Given the description of an element on the screen output the (x, y) to click on. 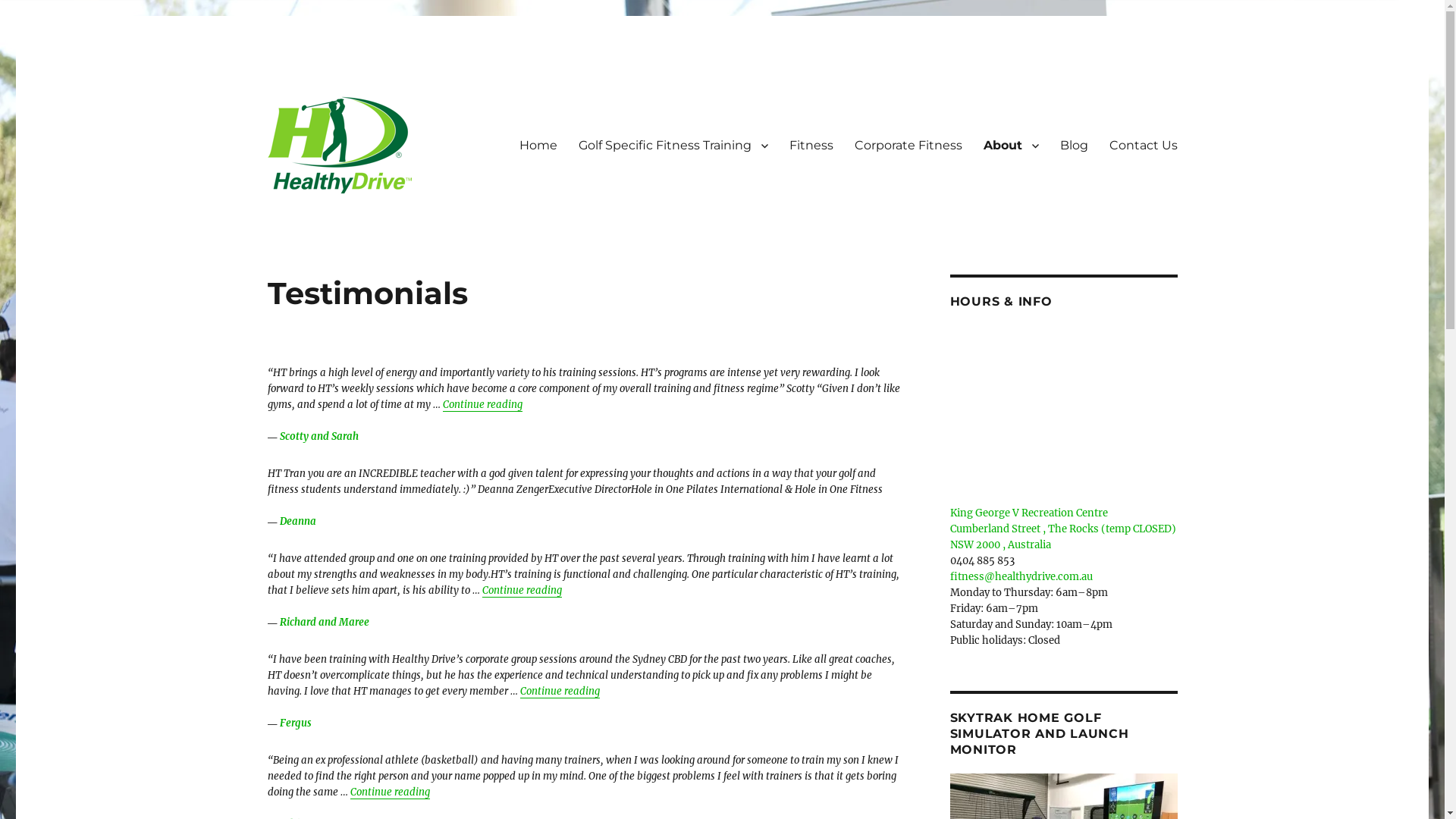
Fergus Element type: text (294, 722)
About Element type: text (1010, 144)
Corporate Fitness Element type: text (907, 144)
Contact Us Element type: text (1142, 144)
Scotty and Sarah Element type: text (318, 435)
Google Map Embed Element type: hover (1062, 407)
Fitness Element type: text (810, 144)
healthydrive Element type: text (336, 234)
Golf Specific Fitness Training Element type: text (672, 144)
fitness@healthydrive.com.au Element type: text (1020, 576)
Blog Element type: text (1073, 144)
Home Element type: text (537, 144)
Richard and Maree Element type: text (323, 621)
Deanna Element type: text (297, 520)
